Given the description of an element on the screen output the (x, y) to click on. 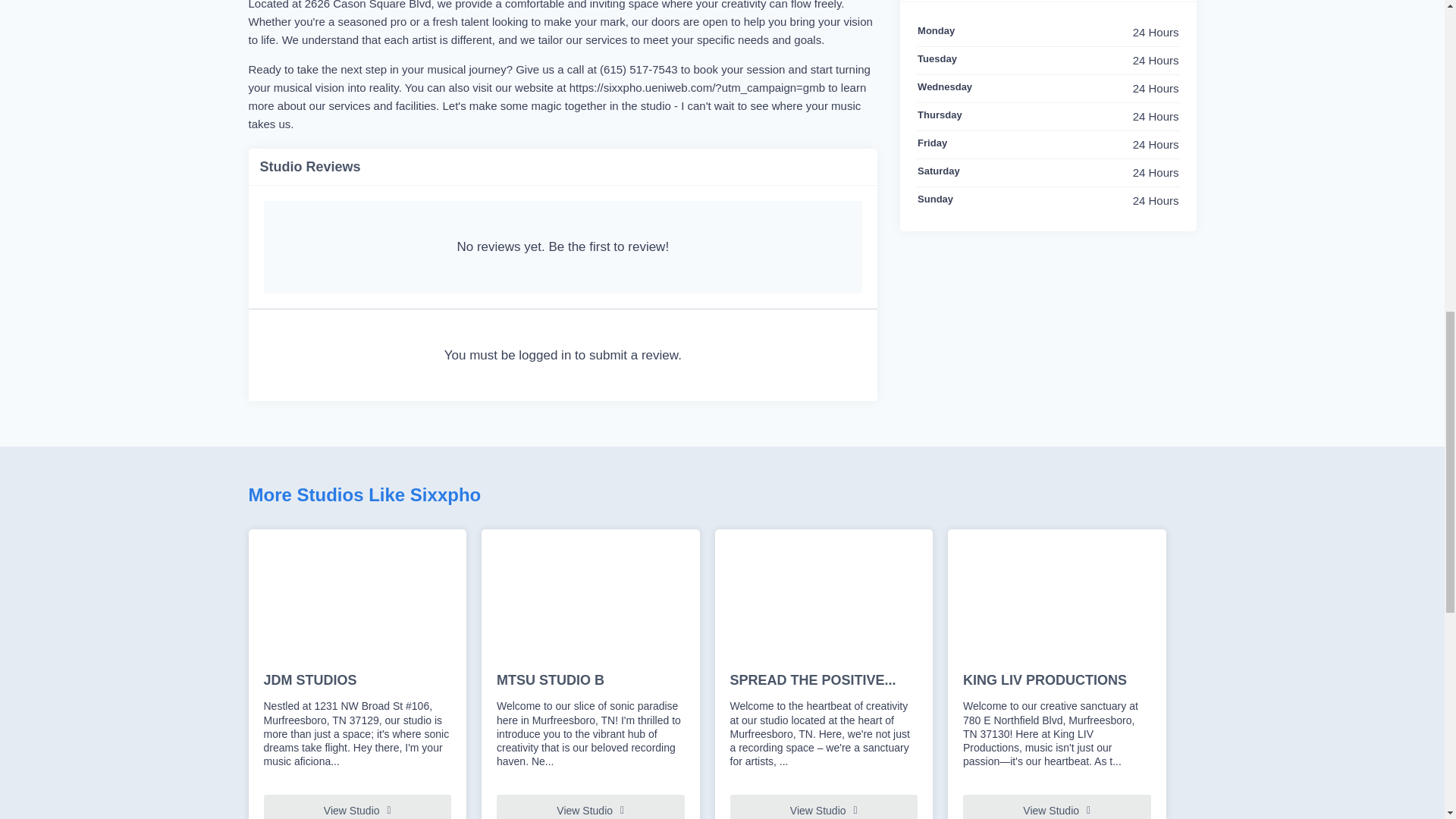
JDM STUDIOS (357, 680)
View Studio (1056, 806)
SPREAD THE POSITIVE... (823, 680)
MTSU STUDIO B (590, 680)
KING LIV PRODUCTIONS (1056, 680)
View Studio (590, 806)
View Studio (357, 806)
View Studio (823, 806)
